Given the description of an element on the screen output the (x, y) to click on. 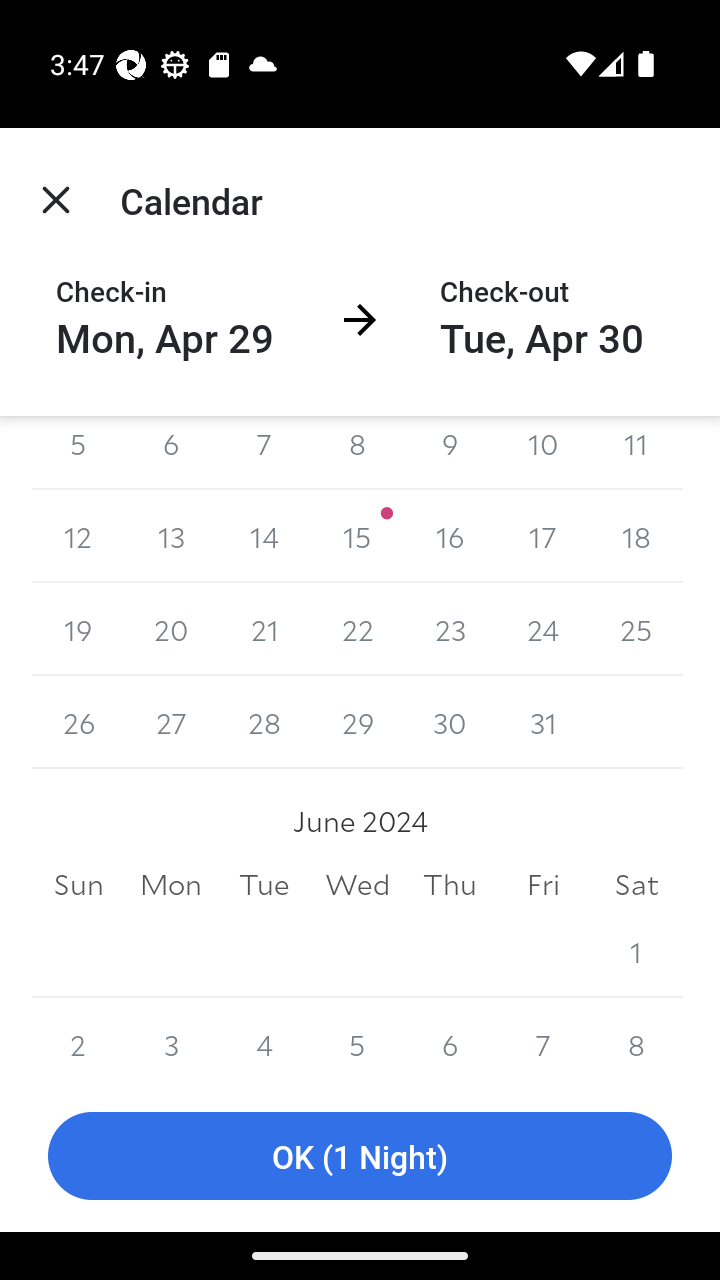
5 5 May 2024 (78, 453)
6 6 May 2024 (171, 453)
7 7 May 2024 (264, 453)
8 8 May 2024 (357, 453)
9 9 May 2024 (449, 453)
10 10 May 2024 (542, 453)
11 11 May 2024 (636, 453)
12 12 May 2024 (78, 536)
13 13 May 2024 (171, 536)
14 14 May 2024 (264, 536)
15 15 May 2024 (357, 536)
16 16 May 2024 (449, 536)
17 17 May 2024 (542, 536)
18 18 May 2024 (636, 536)
19 19 May 2024 (78, 628)
20 20 May 2024 (171, 628)
21 21 May 2024 (264, 628)
22 22 May 2024 (357, 628)
23 23 May 2024 (449, 628)
24 24 May 2024 (542, 628)
25 25 May 2024 (636, 628)
26 26 May 2024 (78, 722)
27 27 May 2024 (171, 722)
28 28 May 2024 (264, 722)
29 29 May 2024 (357, 722)
30 30 May 2024 (449, 722)
31 31 May 2024 (542, 722)
Sun (78, 884)
Mon (171, 884)
Tue (264, 884)
Wed (357, 884)
Thu (449, 884)
Fri (542, 884)
Sat (636, 884)
1 1 June 2024 (636, 951)
2 2 June 2024 (78, 1039)
3 3 June 2024 (171, 1039)
4 4 June 2024 (264, 1039)
5 5 June 2024 (357, 1039)
6 6 June 2024 (449, 1039)
7 7 June 2024 (542, 1039)
8 8 June 2024 (636, 1039)
OK (1 Night) (359, 1156)
